Given the description of an element on the screen output the (x, y) to click on. 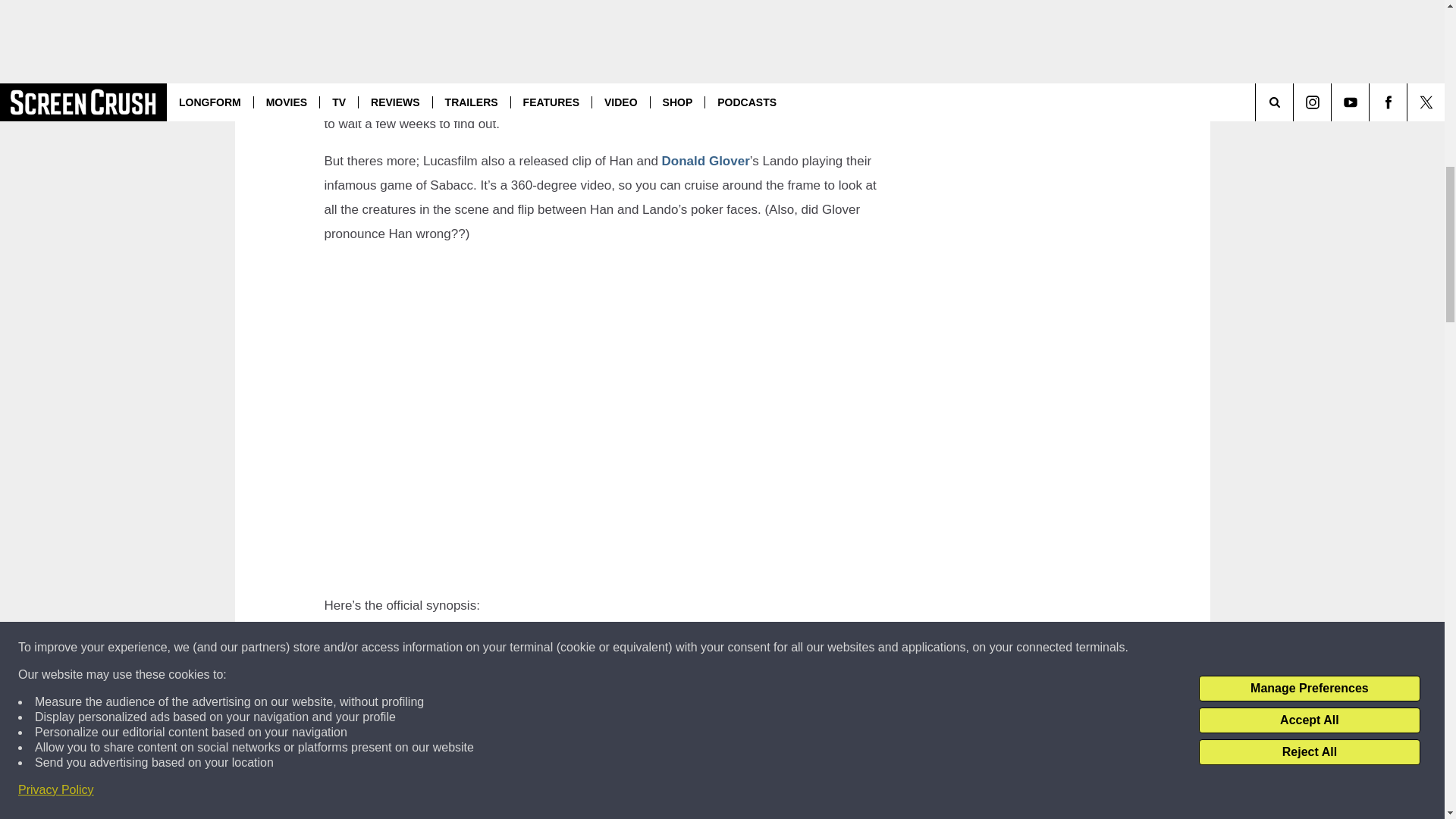
mimic (745, 74)
Donald Glover (705, 160)
